Given the description of an element on the screen output the (x, y) to click on. 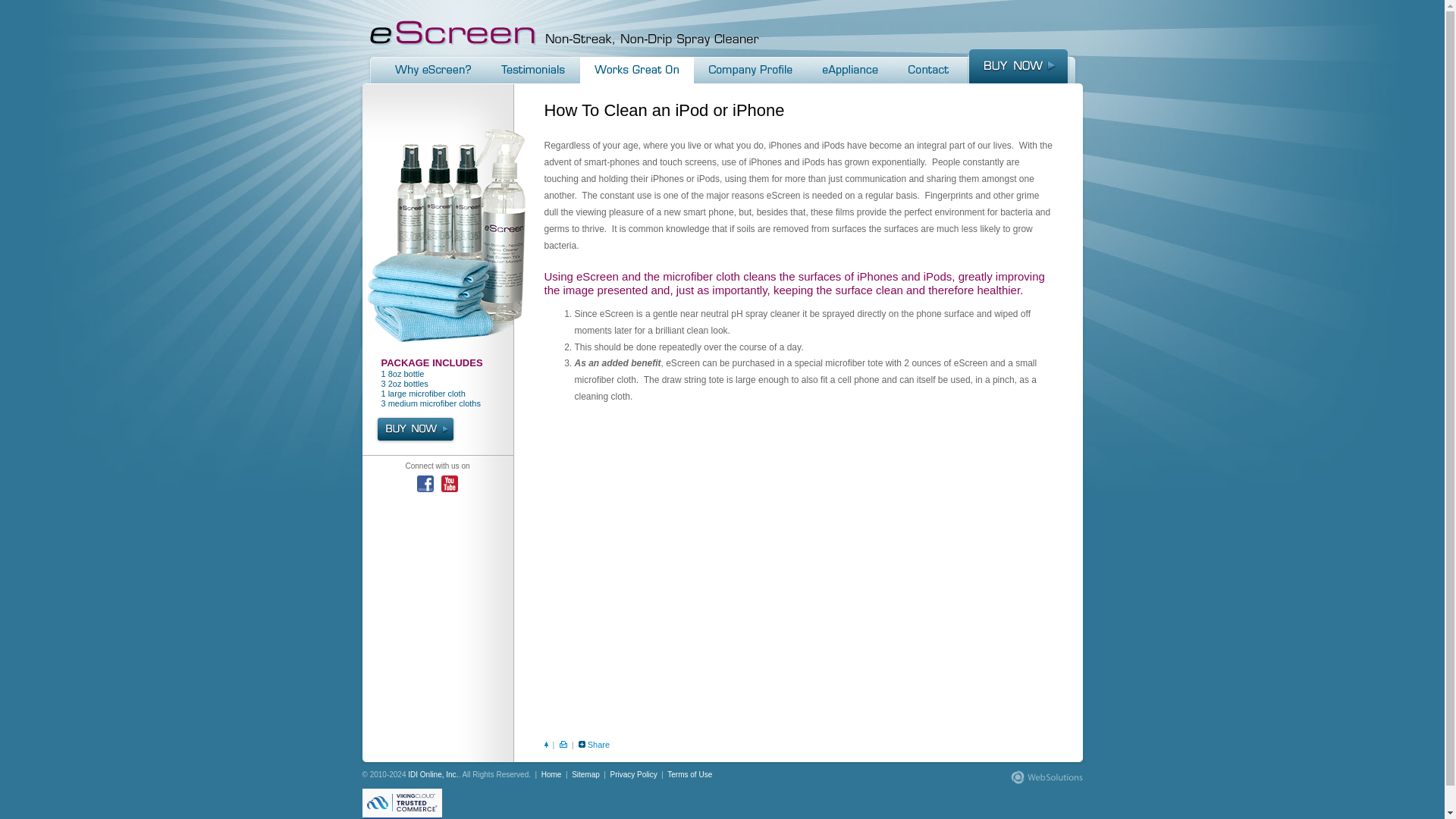
IDI Online, Inc. (432, 774)
Home (551, 774)
Sitemap (585, 774)
Share (599, 744)
Privacy Policy (634, 774)
Terms of Use (688, 774)
